Given the description of an element on the screen output the (x, y) to click on. 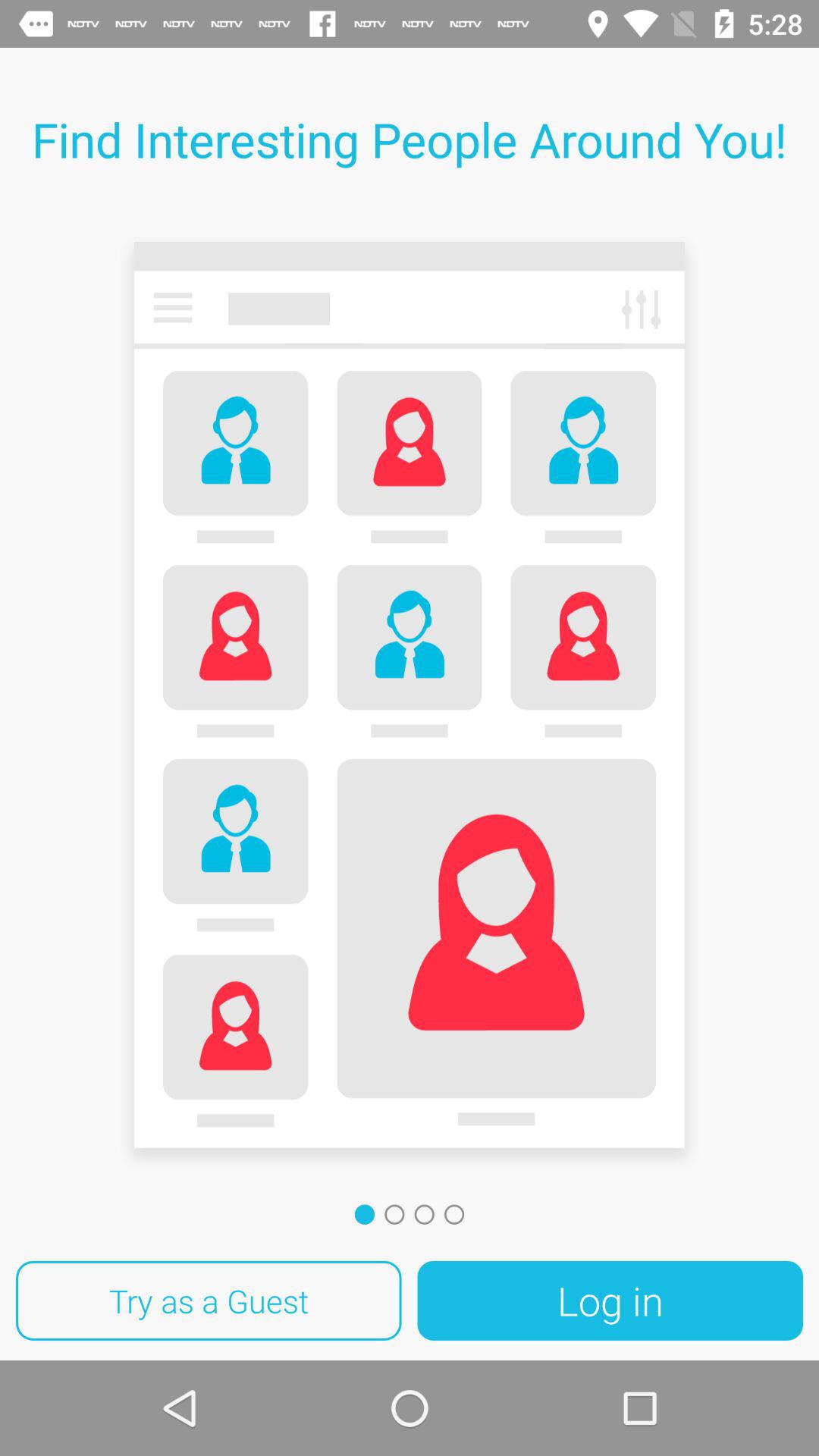
select item at the bottom right corner (610, 1300)
